Given the description of an element on the screen output the (x, y) to click on. 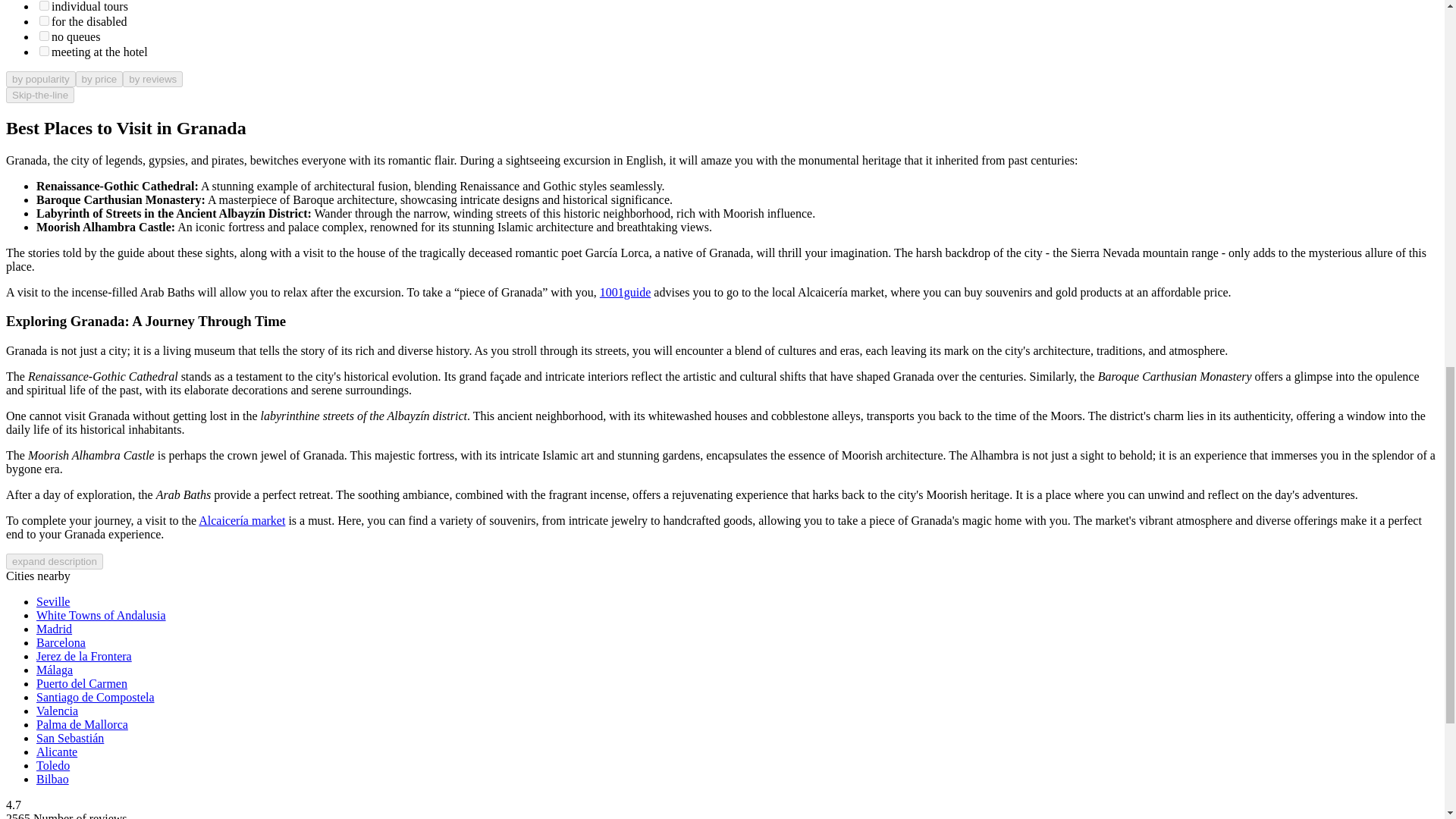
Madrid (53, 628)
Santiago de Compostela (95, 697)
expand description (54, 561)
by reviews (152, 78)
1001guide (624, 291)
Barcelona (60, 642)
White Towns of Andalusia (100, 615)
by price (99, 78)
by popularity (40, 78)
Seville (52, 601)
Skip-the-line (39, 94)
Jerez de la Frontera (84, 656)
Puerto del Carmen (82, 683)
